Given the description of an element on the screen output the (x, y) to click on. 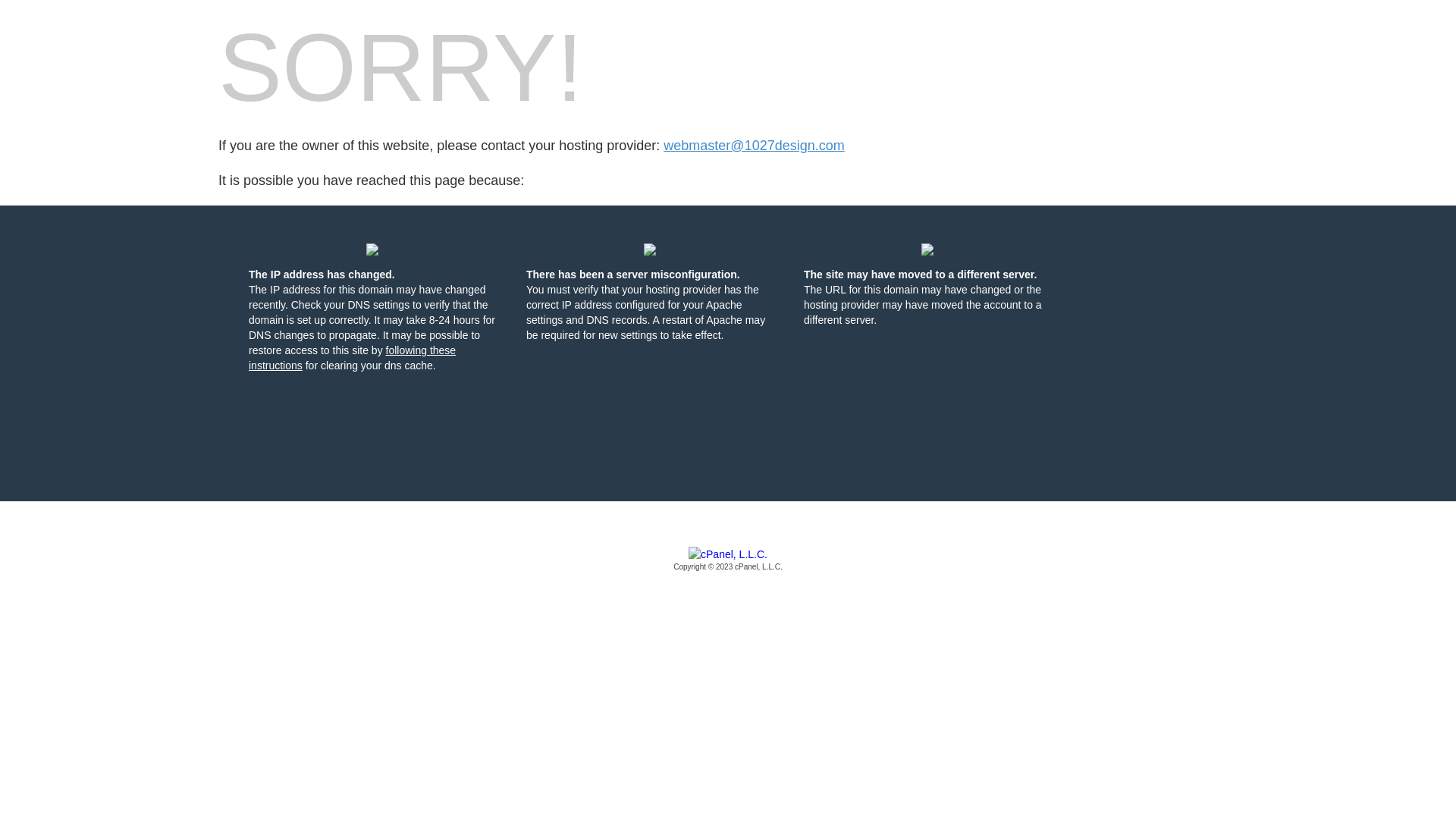
following these instructions Element type: text (351, 357)
webmaster@1027design.com Element type: text (753, 145)
